Given the description of an element on the screen output the (x, y) to click on. 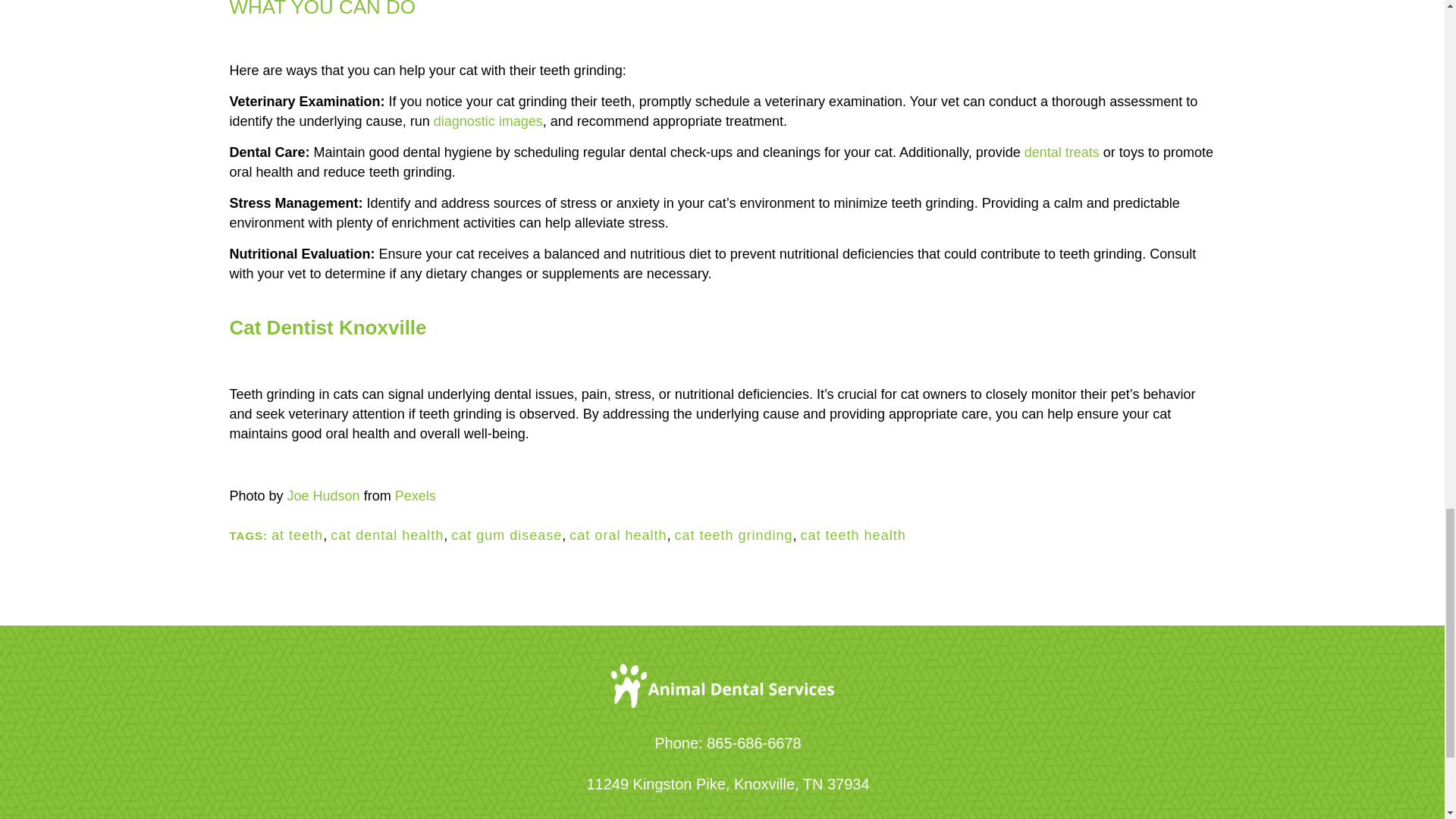
diagnostic images (488, 120)
